Given the description of an element on the screen output the (x, y) to click on. 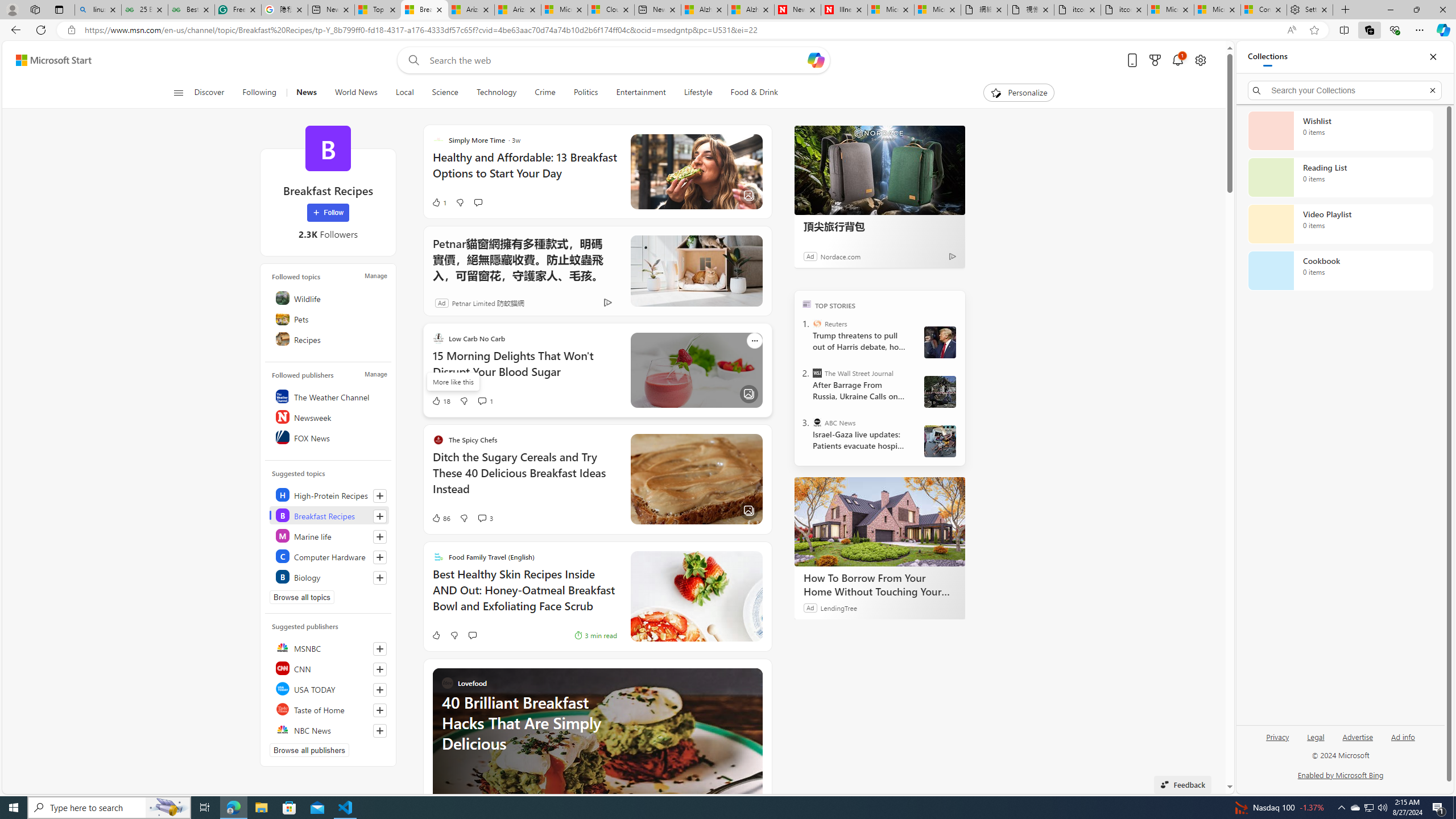
15 Morning Delights That Won't Disrupt Your Blood Sugar (524, 369)
Microsoft Services Agreement (563, 9)
App bar (728, 29)
Video Playlist collection, 0 items (1339, 223)
Top Stories - MSN (377, 9)
Science (444, 92)
